Given the description of an element on the screen output the (x, y) to click on. 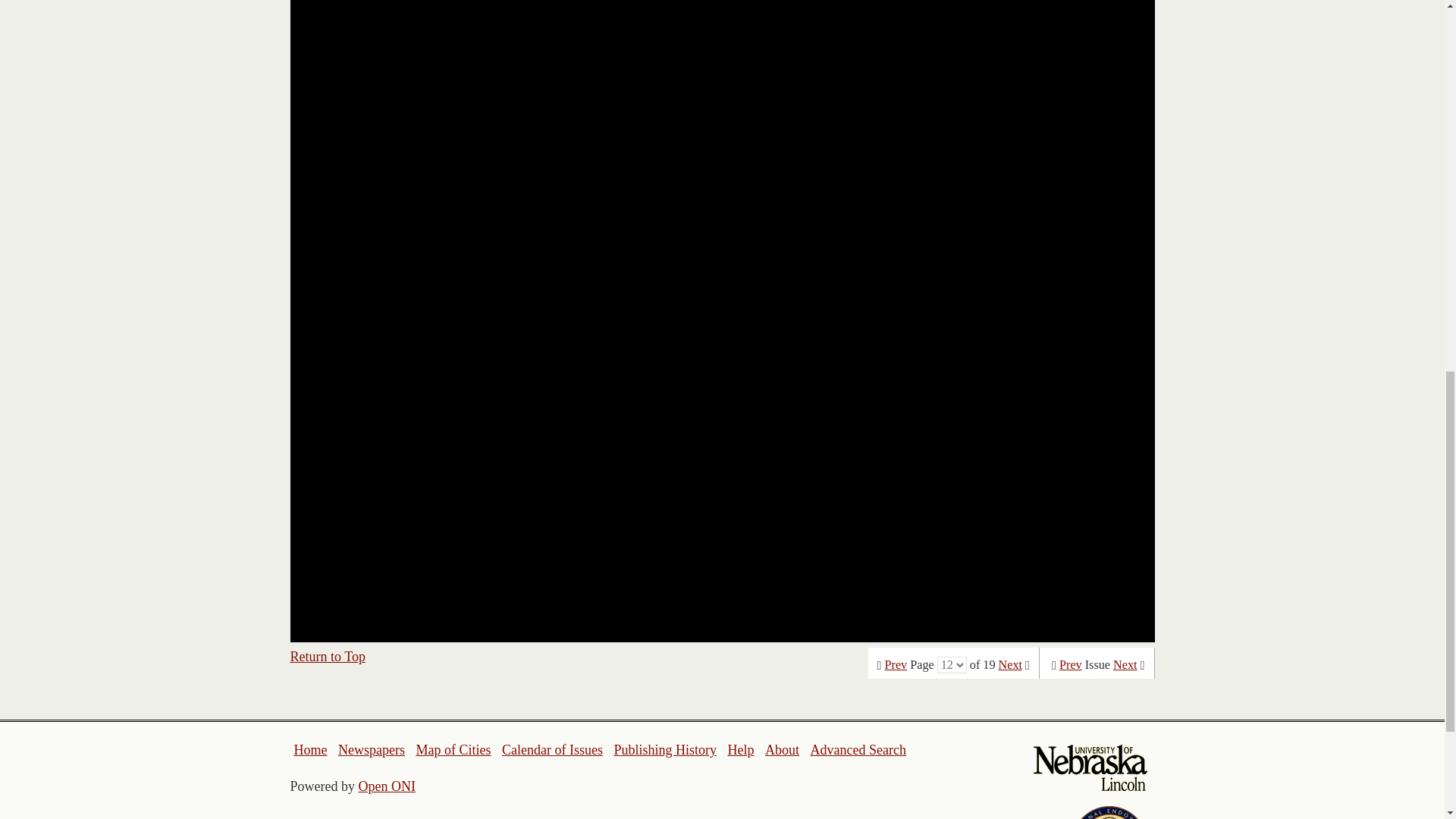
Open ONI (386, 785)
About (782, 749)
Next (1125, 664)
Home (310, 749)
Prev (1070, 664)
Prev (896, 664)
Publishing History (664, 749)
Next (1010, 664)
Advanced Search (857, 749)
Help (740, 749)
